Given the description of an element on the screen output the (x, y) to click on. 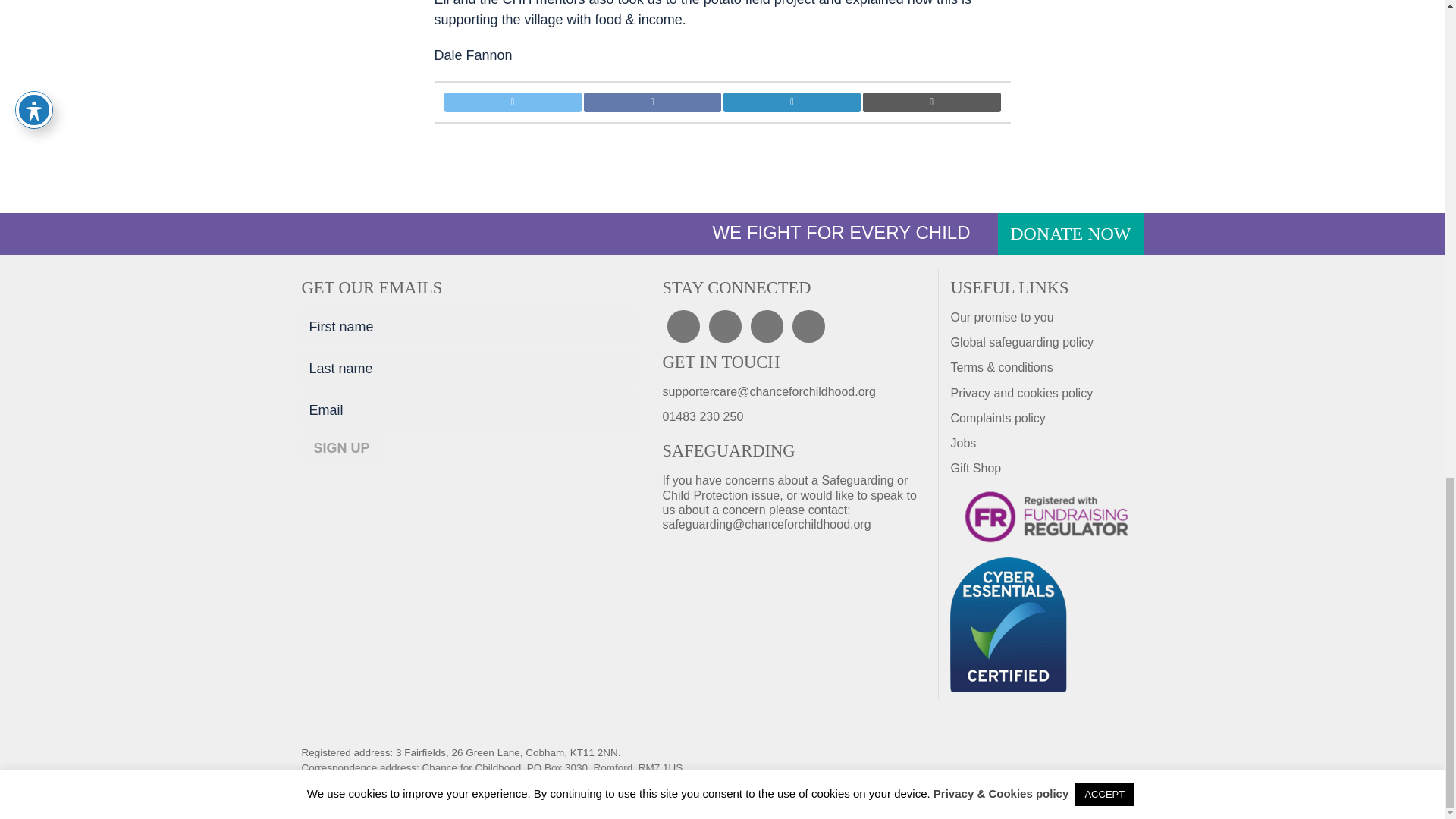
Sign up (341, 448)
SHARE ON FACEBOOK (651, 102)
SHARE ON LINKEDIN (791, 102)
SHARE ON EMAIL (931, 102)
